Given the description of an element on the screen output the (x, y) to click on. 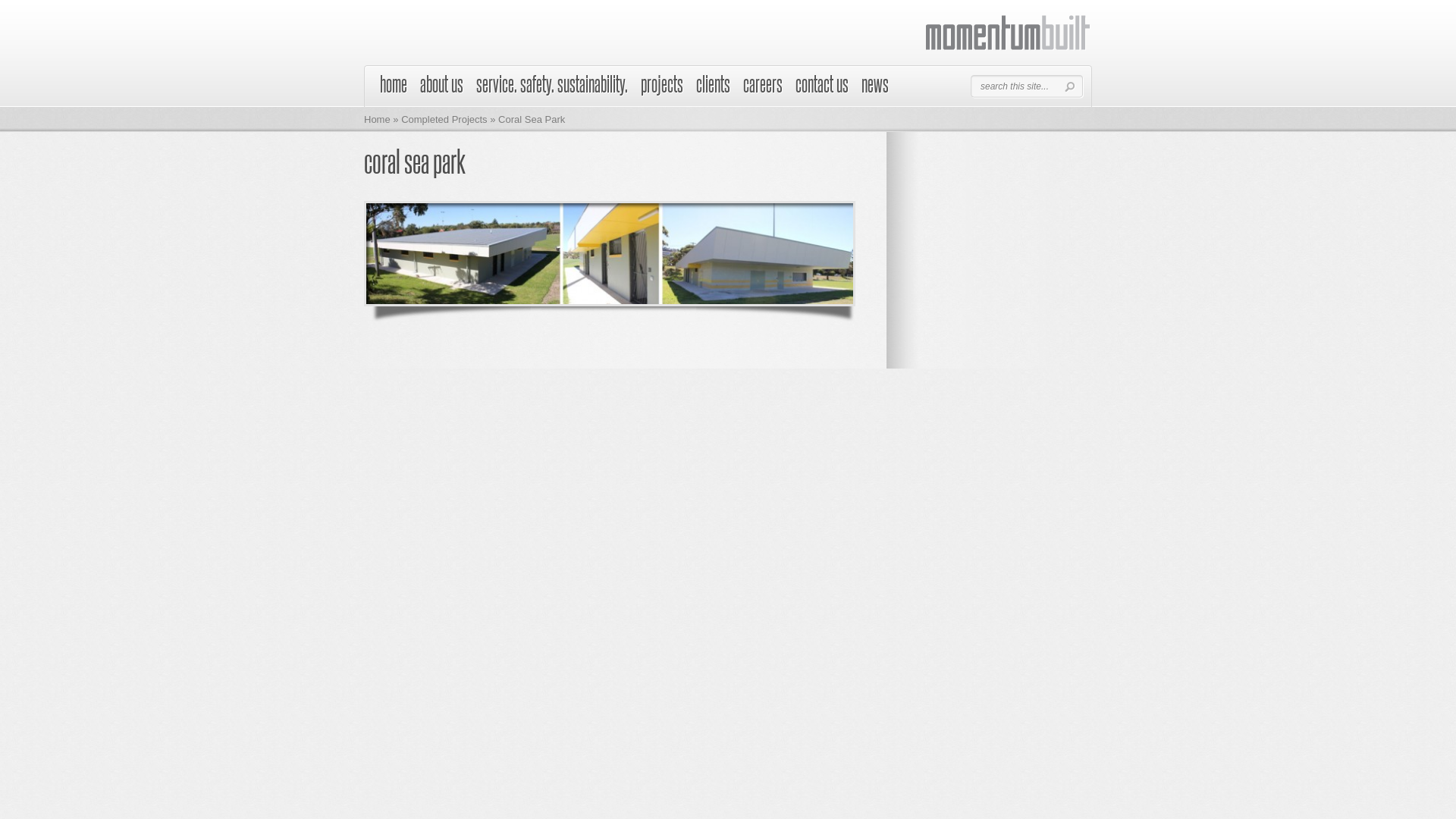
about us Element type: text (441, 89)
projects Element type: text (661, 89)
Completed Projects Element type: text (443, 119)
news Element type: text (874, 89)
Momentum Built Element type: text (1008, 34)
contact us Element type: text (821, 89)
home Element type: text (393, 89)
Coral Sea Park Element type: hover (609, 253)
careers Element type: text (762, 89)
service. safety. sustainability. Element type: text (551, 89)
Home Element type: text (377, 119)
clients Element type: text (713, 89)
